Given the description of an element on the screen output the (x, y) to click on. 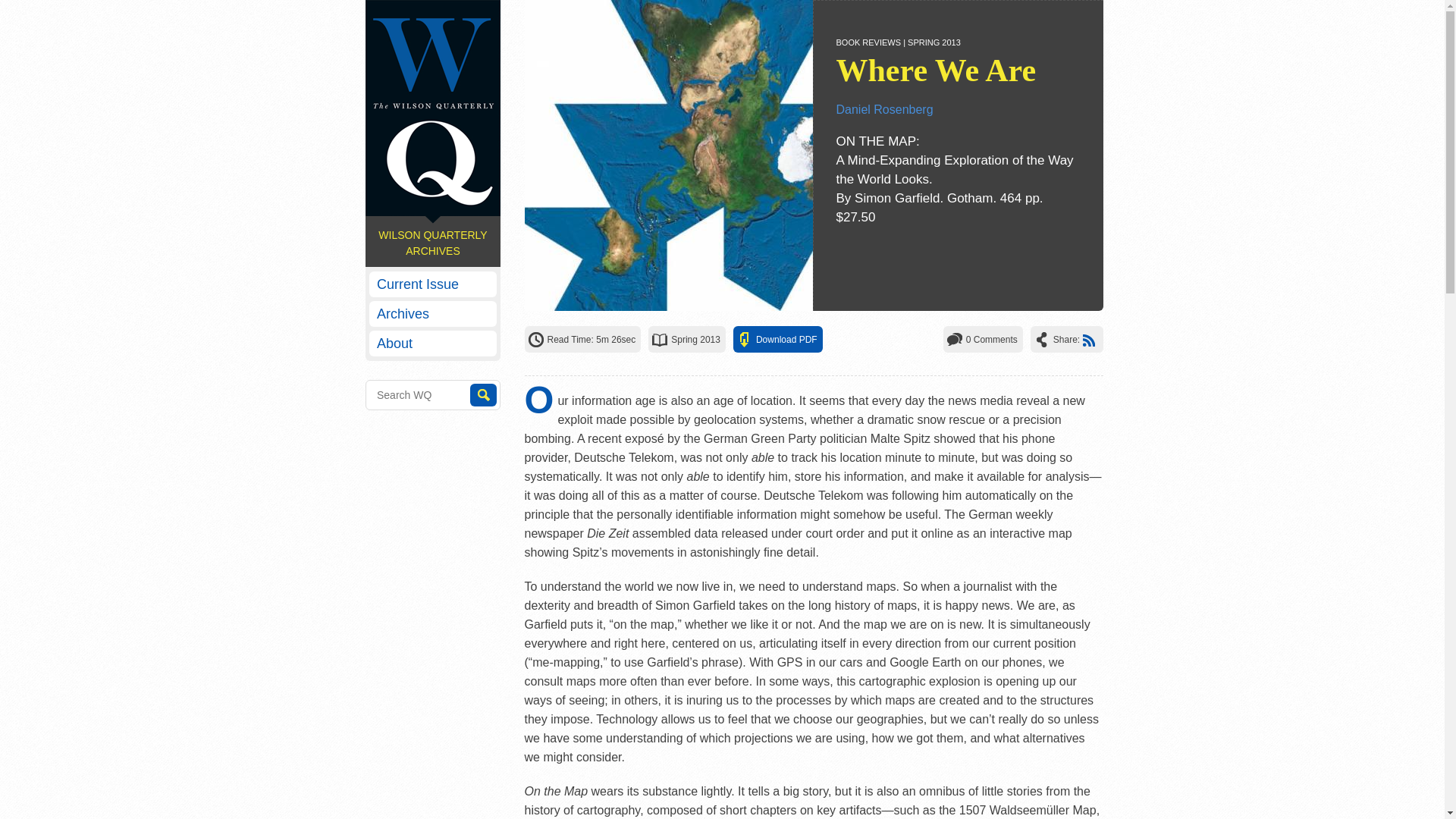
Download PDF (785, 339)
Enter the terms you wish to search for. (432, 395)
Skip to comments (991, 339)
Search (483, 395)
0 Comments (991, 339)
Spring 2013 (695, 339)
Current Issue (432, 284)
About (432, 343)
Search (483, 395)
